Given the description of an element on the screen output the (x, y) to click on. 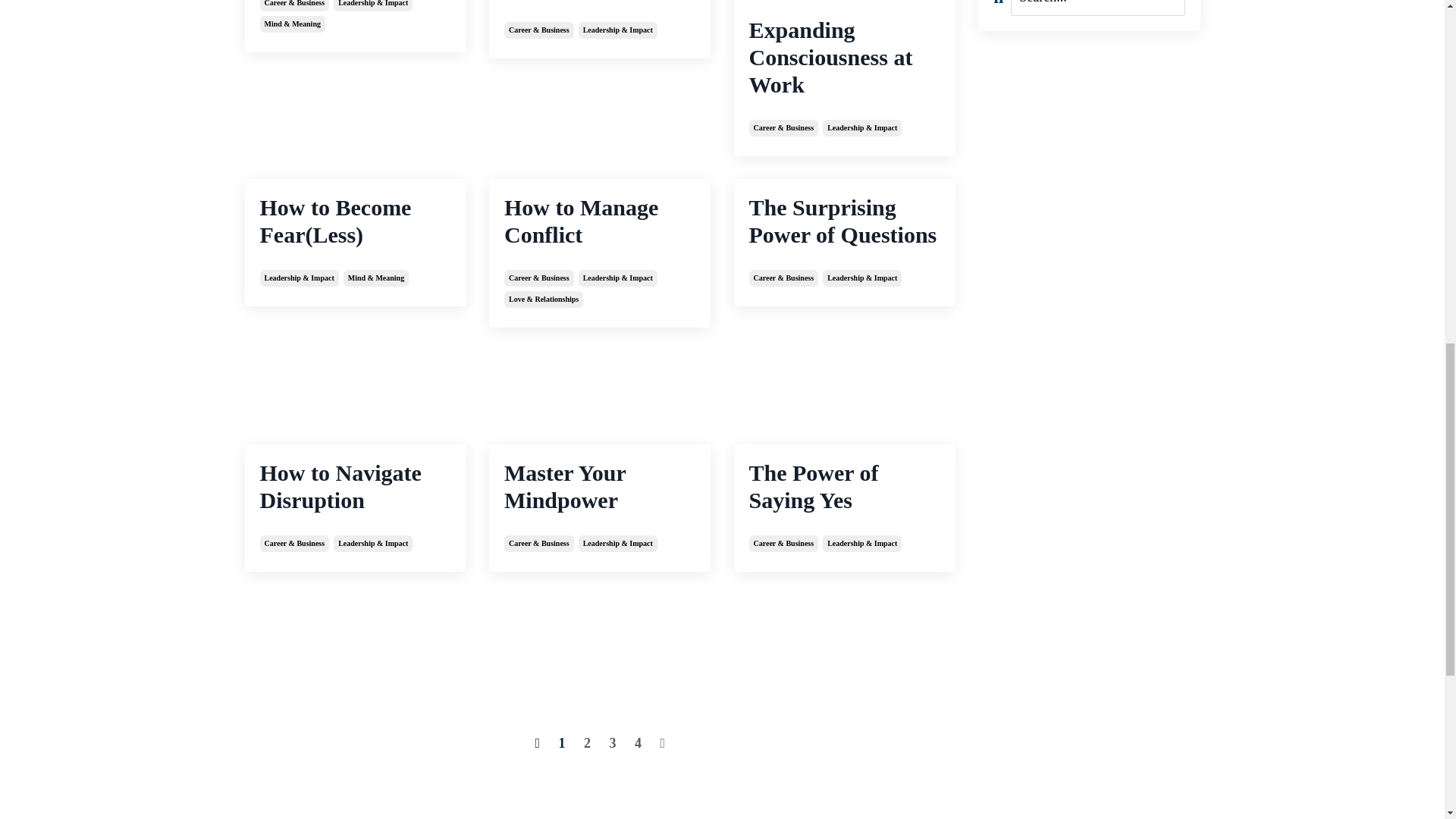
Expanding Consciousness at Work (844, 57)
